Given the description of an element on the screen output the (x, y) to click on. 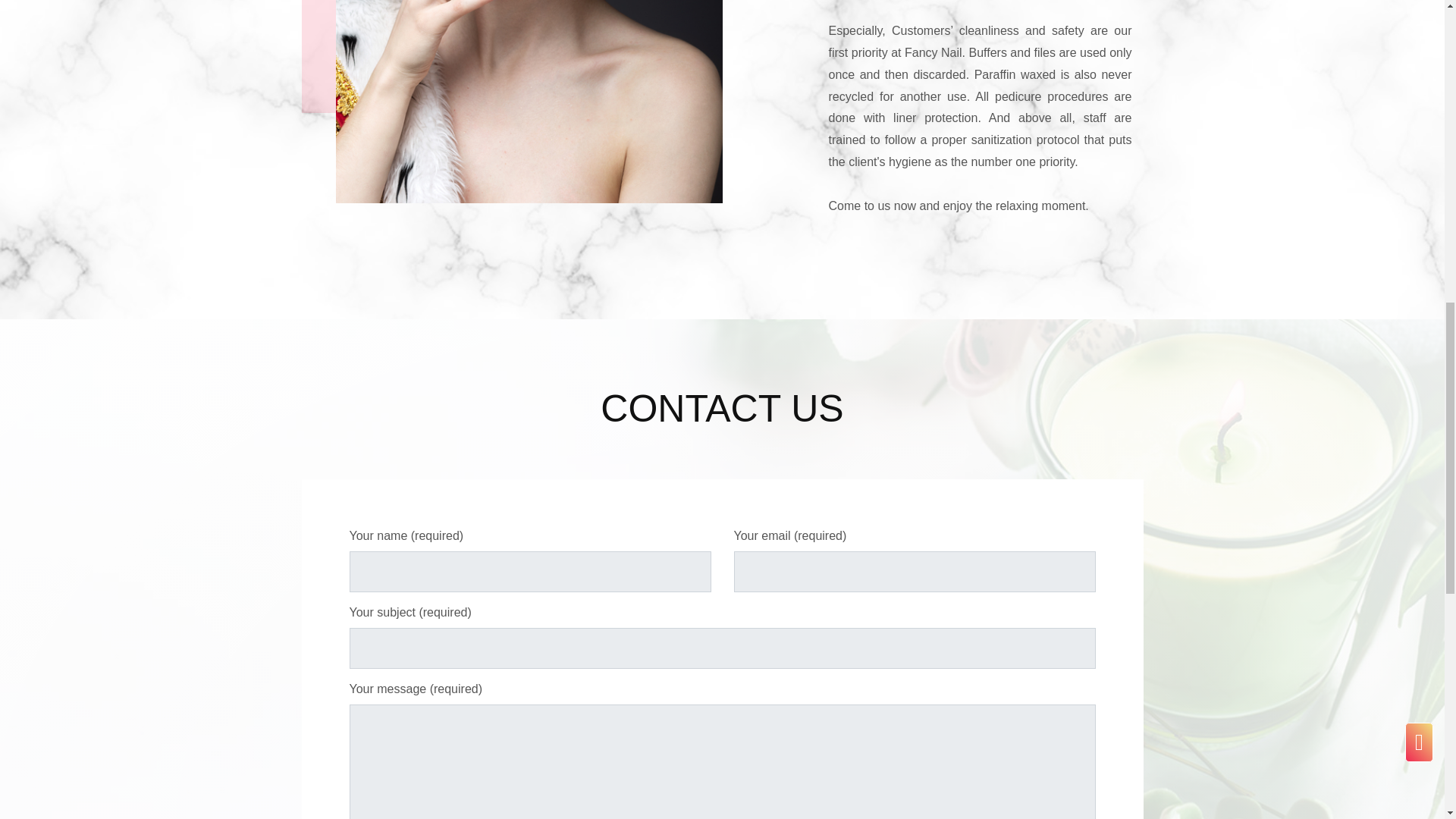
Your name (529, 571)
Your subject (721, 648)
Your email (914, 571)
Your message (721, 761)
